Given the description of an element on the screen output the (x, y) to click on. 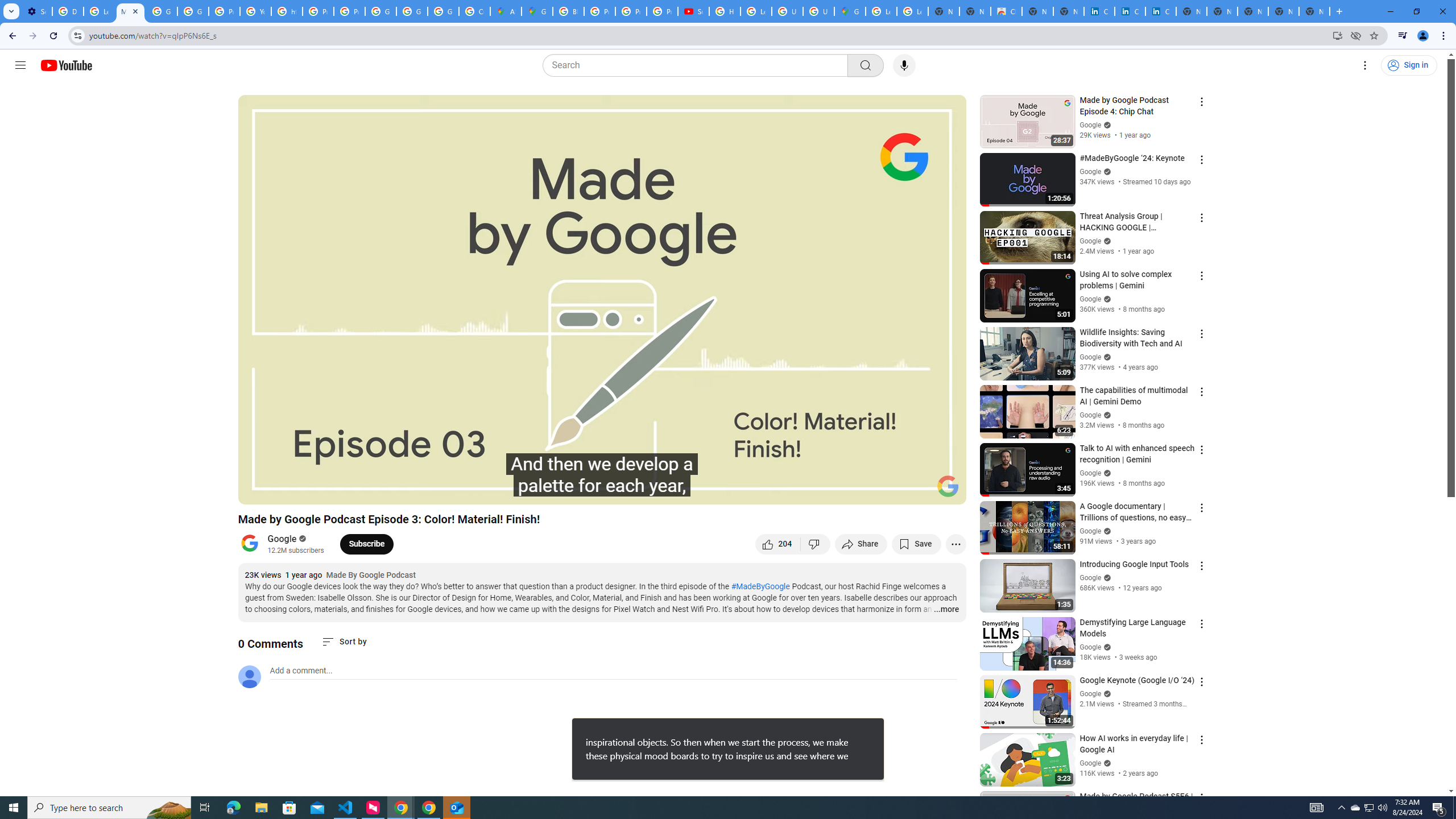
Privacy Help Center - Policies Help (599, 11)
Channel watermark (947, 486)
Cookie Policy | LinkedIn (1098, 11)
Search with your voice (903, 65)
Miniplayer (i) (890, 490)
Google (282, 538)
Dislike this video (815, 543)
#MadeByGoogle (760, 586)
